Given the description of an element on the screen output the (x, y) to click on. 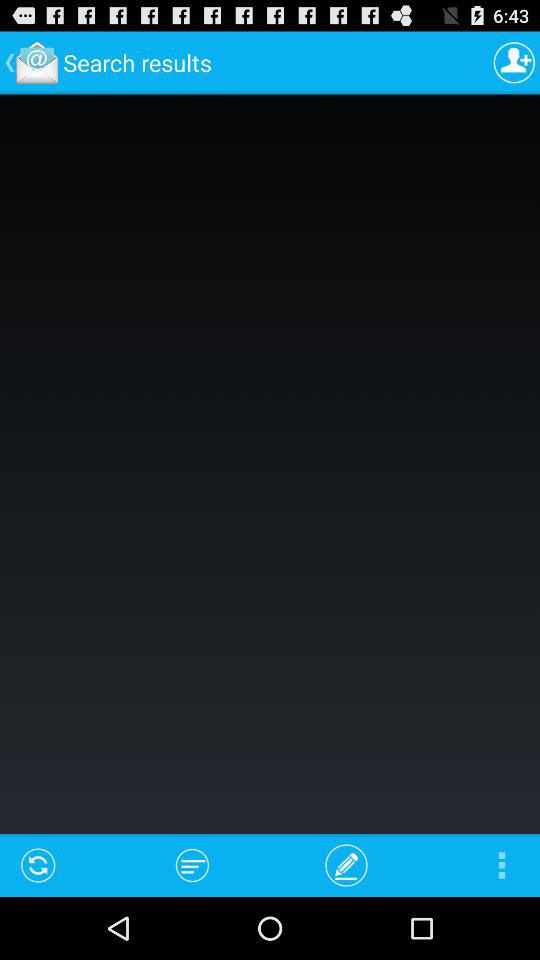
select the icon below search results app (192, 864)
